Given the description of an element on the screen output the (x, y) to click on. 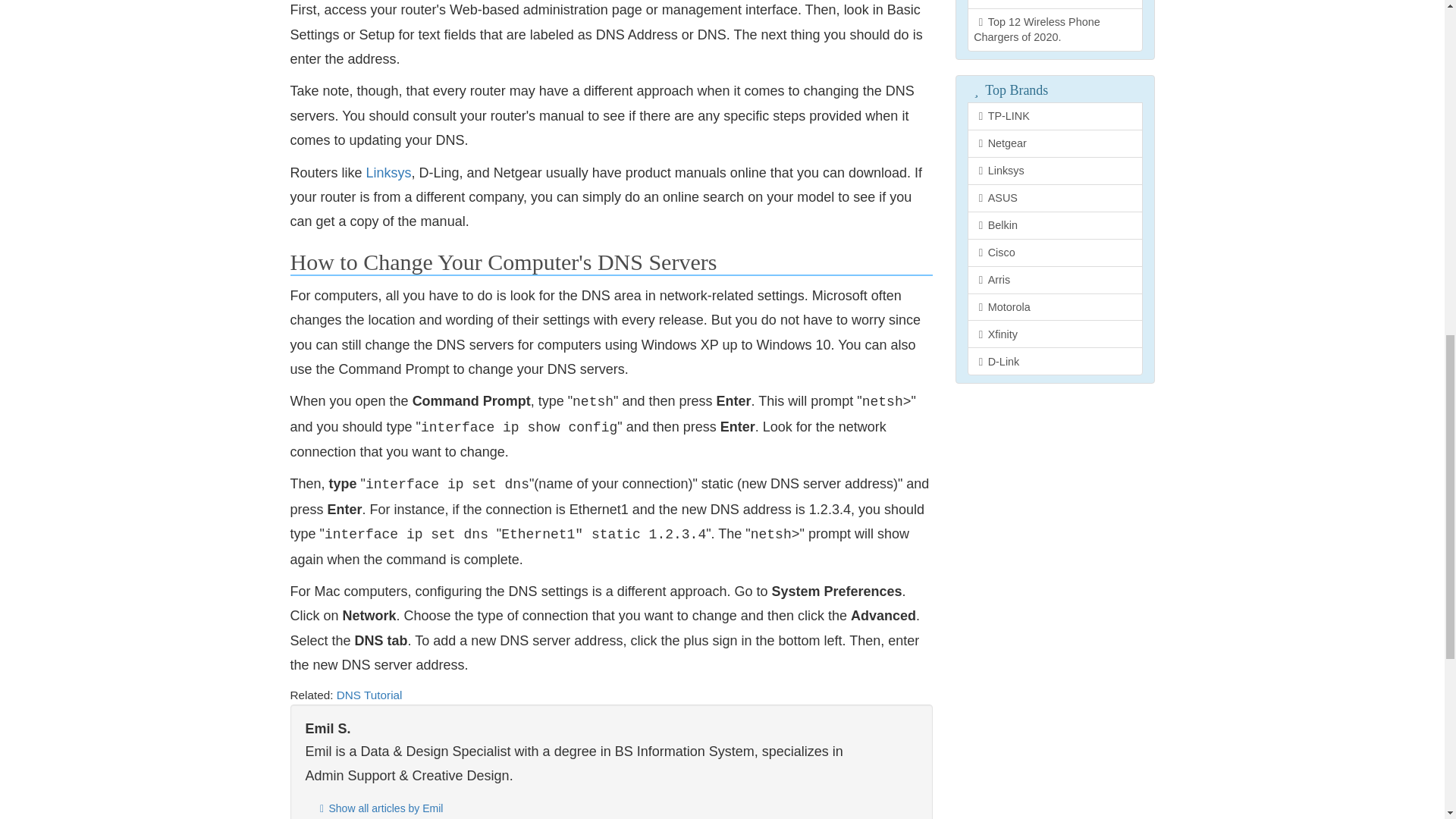
DMCA.com Protection Status (1054, 403)
DNS (348, 694)
Tutorial (382, 694)
Show all articles by Emil (378, 807)
Linksys (389, 172)
